Given the description of an element on the screen output the (x, y) to click on. 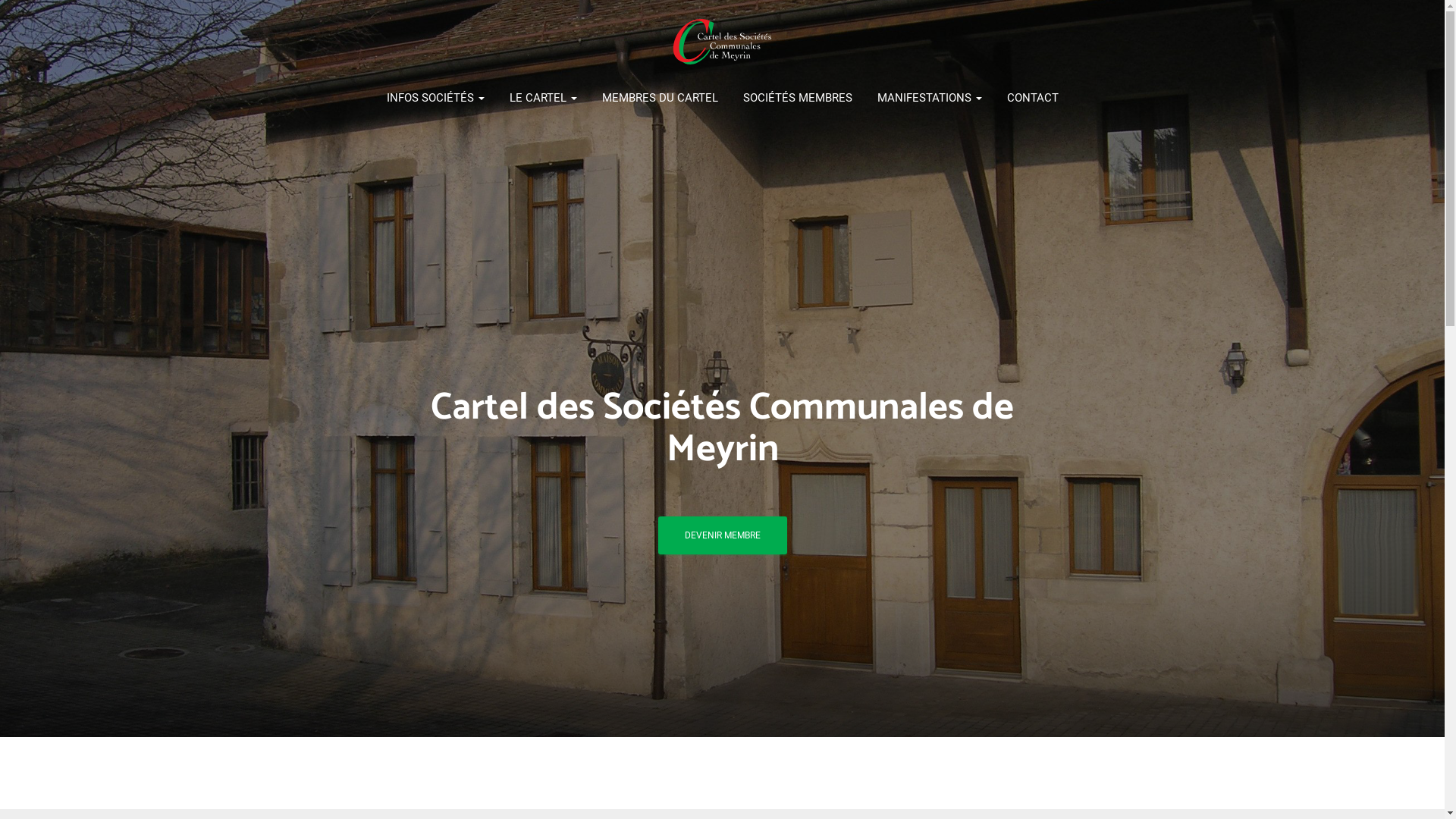
MANIFESTATIONS Element type: text (929, 97)
MEMBRES DU CARTEL Element type: text (658, 97)
LE CARTEL Element type: text (542, 97)
DEVENIR MEMBRE Element type: text (722, 535)
CONTACT Element type: text (1031, 97)
